Given the description of an element on the screen output the (x, y) to click on. 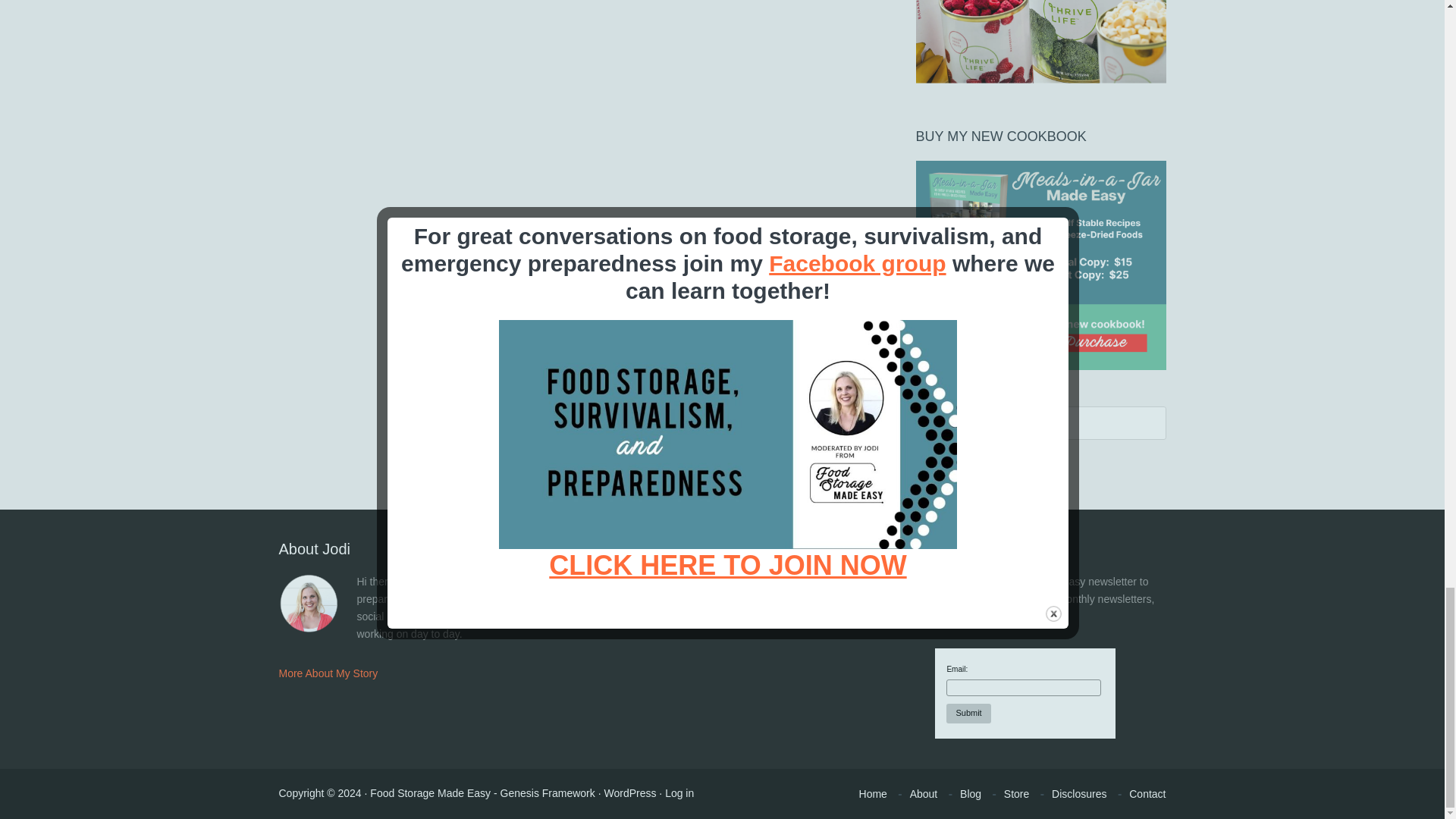
Search (950, 463)
Submit (968, 713)
Search (950, 463)
